Given the description of an element on the screen output the (x, y) to click on. 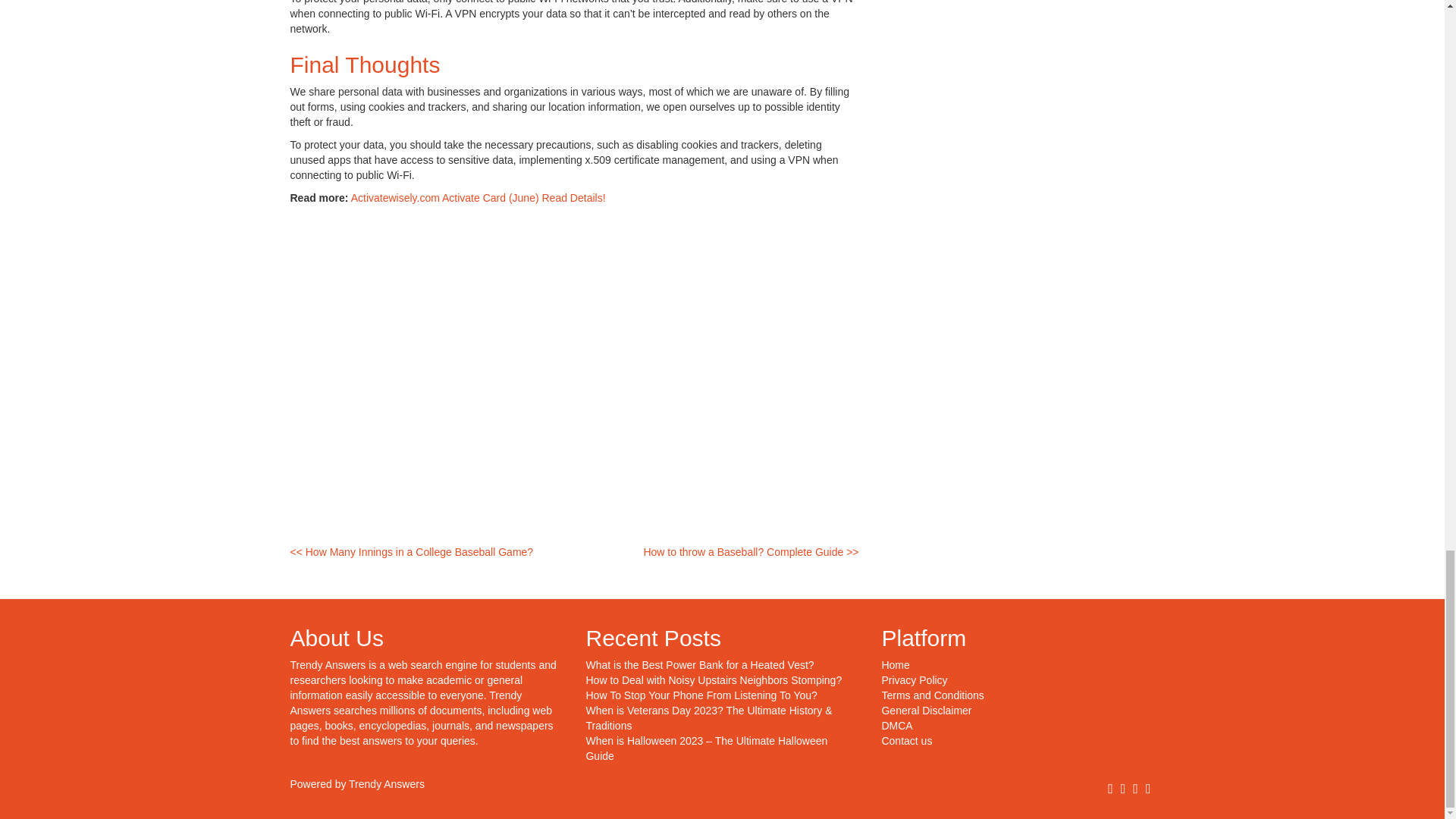
What is the Best Power Bank for a Heated Vest? (699, 664)
How to Deal with Noisy Upstairs Neighbors Stomping? (713, 680)
How To Stop Your Phone From Listening To You? (700, 695)
Trendy Answers (327, 664)
Privacy Policy (913, 680)
Home (894, 664)
